Given the description of an element on the screen output the (x, y) to click on. 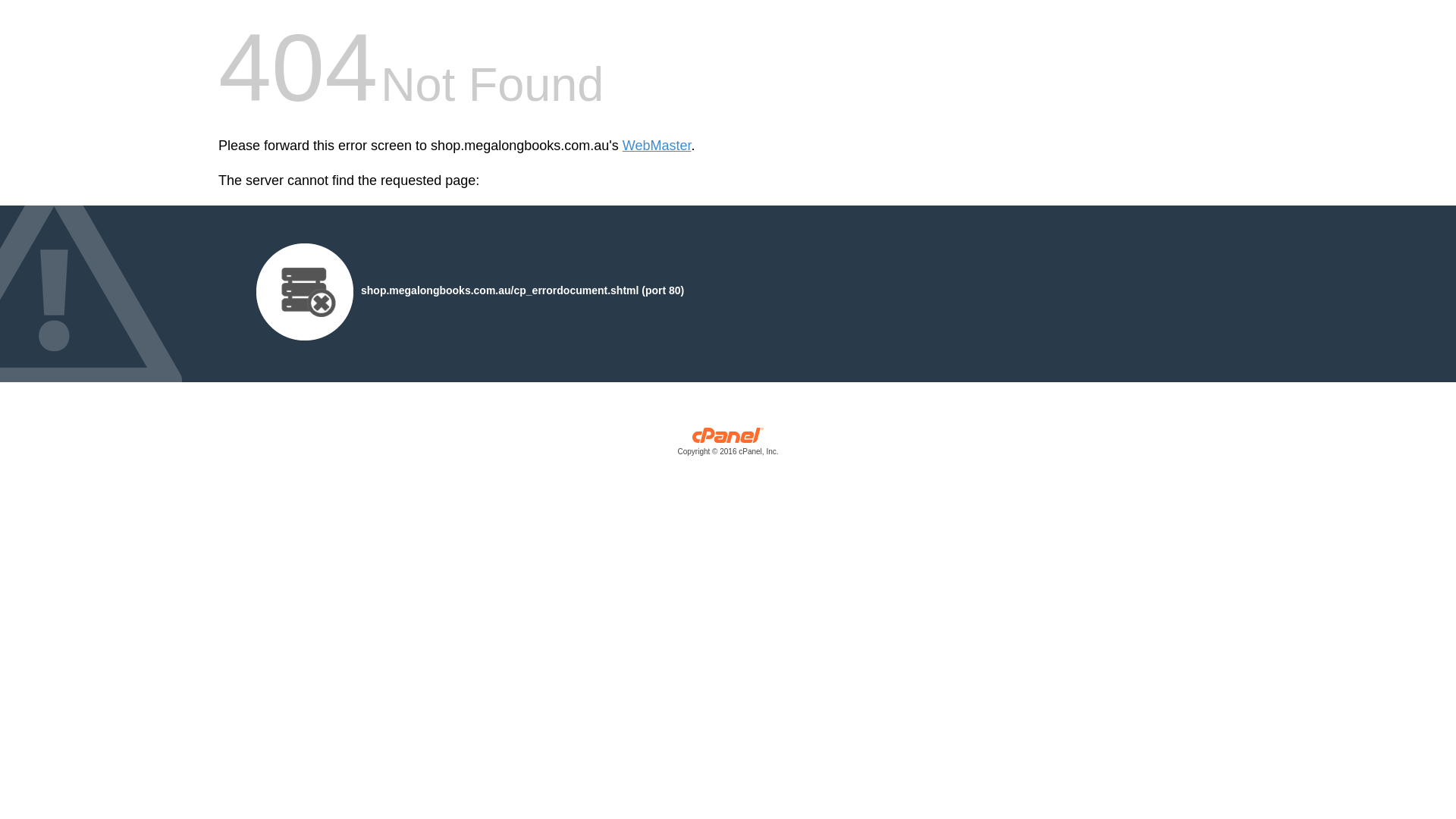
WebMaster Element type: text (656, 145)
